Given the description of an element on the screen output the (x, y) to click on. 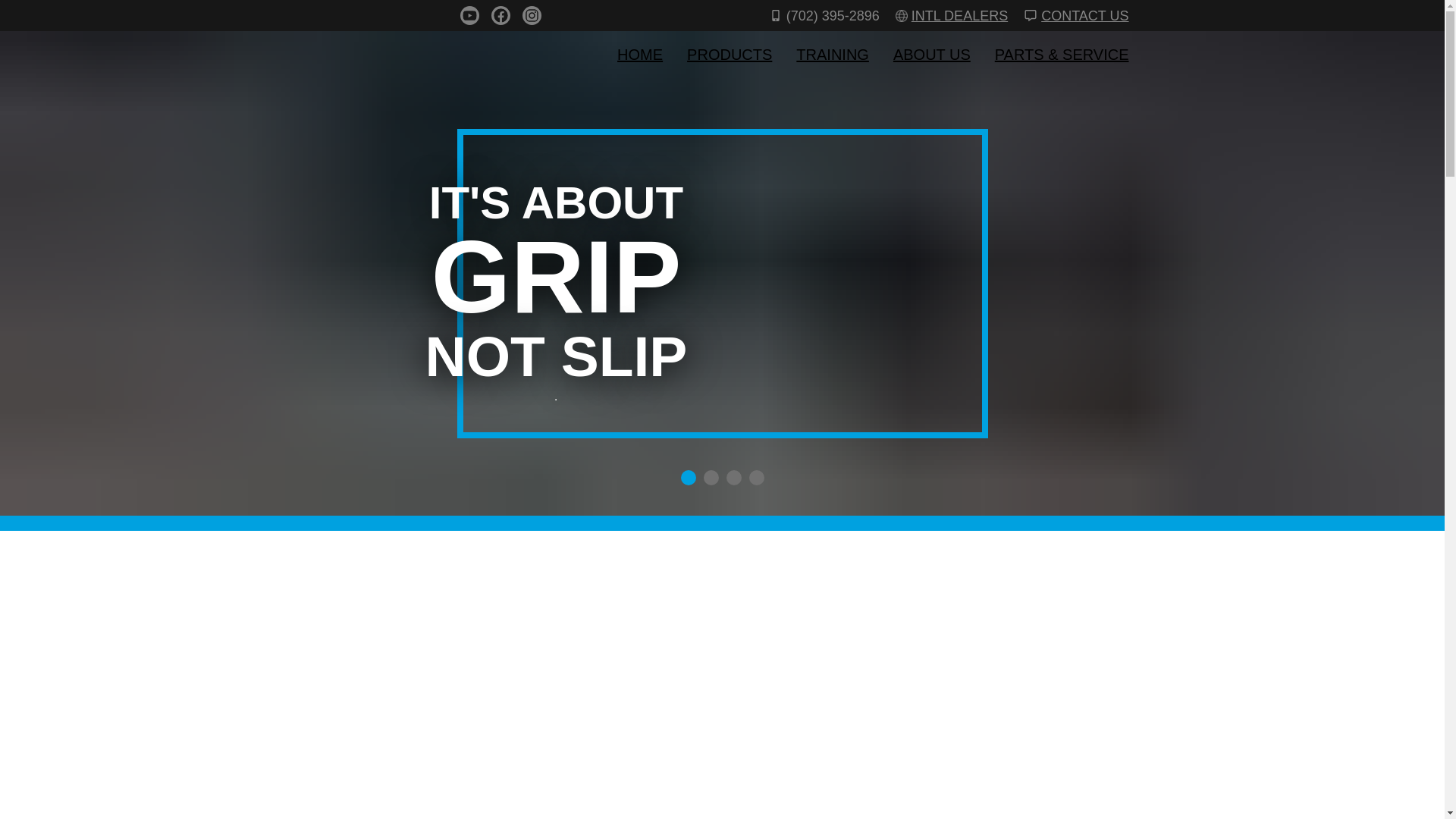
CONTACT US (1074, 15)
ABOUT US (932, 54)
PRODUCTS (729, 54)
HOME (639, 55)
INTL DEALERS (949, 15)
TRAINING (832, 54)
